Given the description of an element on the screen output the (x, y) to click on. 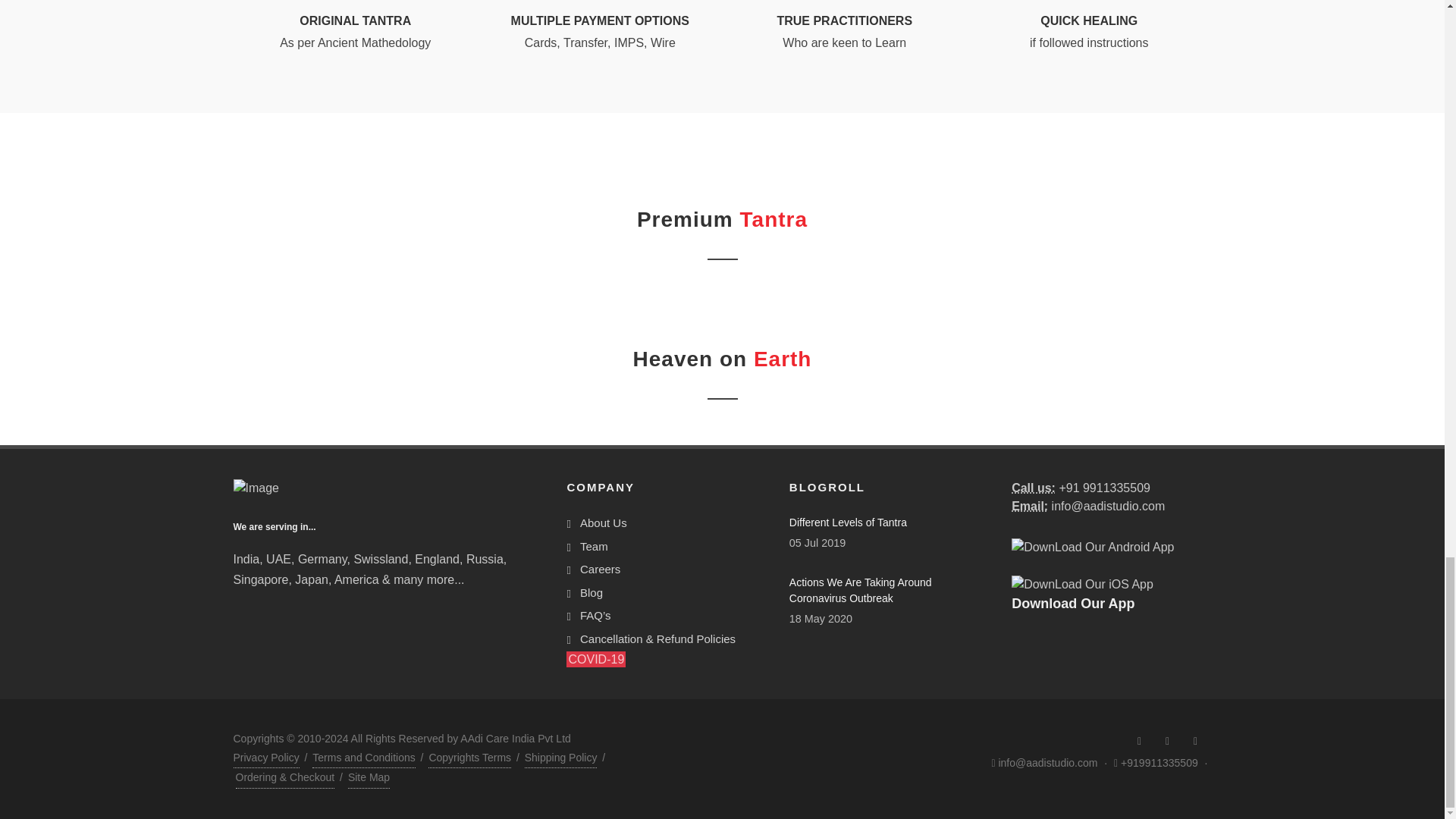
DownLoad Our App (1082, 584)
Email Address (1029, 505)
Phone Number (1033, 487)
DownLoad Our App (1092, 547)
